Given the description of an element on the screen output the (x, y) to click on. 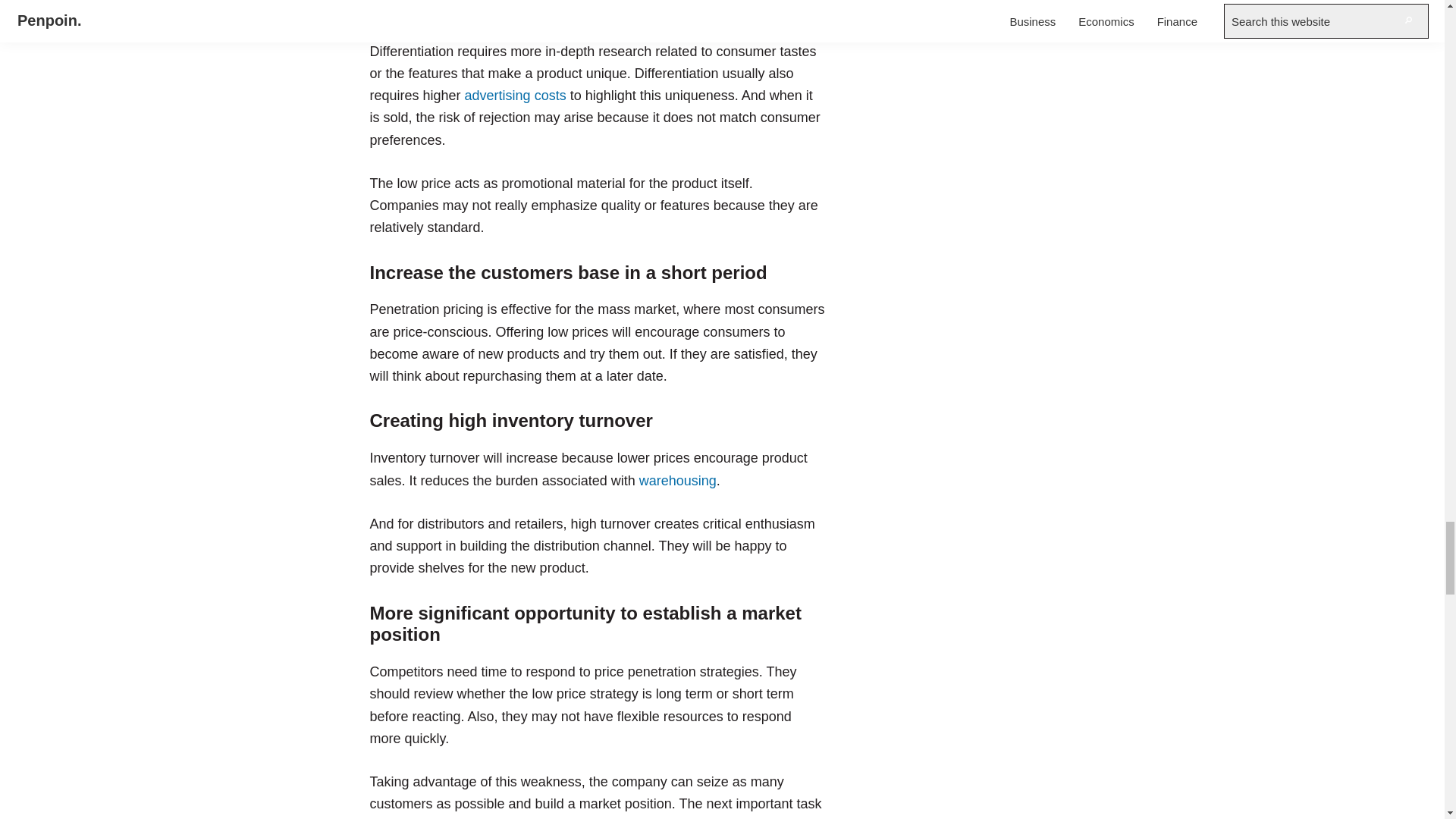
advertising costs (515, 95)
warehousing (677, 480)
